Given the description of an element on the screen output the (x, y) to click on. 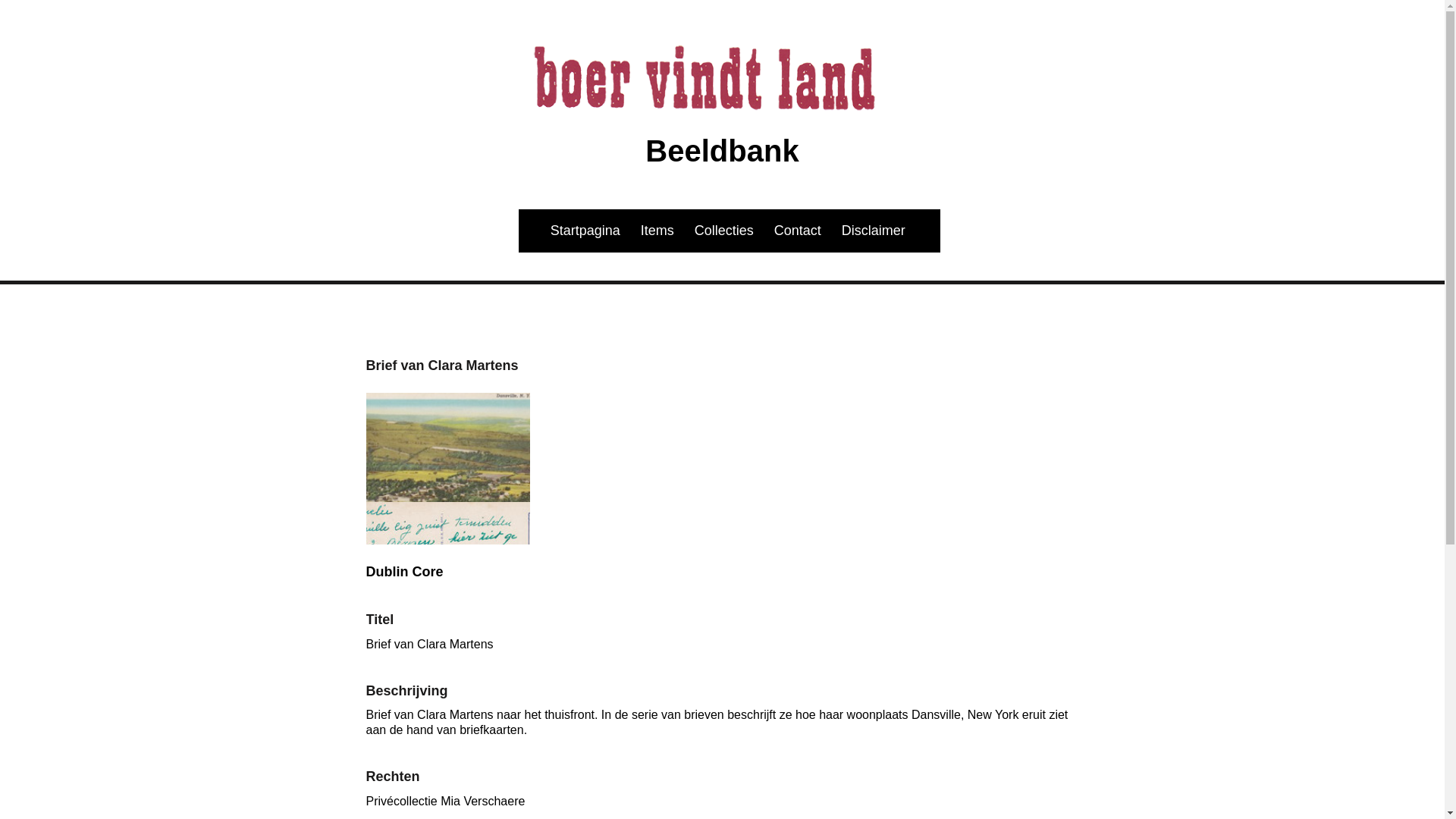
E_brieven_IMG_0017-imp.png Element type: hover (447, 474)
Items Element type: text (657, 230)
Contact Element type: text (797, 230)
E_brieven_IMG_0018.jpg Element type: hover (447, 583)
Startpagina Element type: text (573, 230)
Collecties Element type: text (724, 230)
Beeldbank Element type: text (721, 150)
Disclaimer Element type: text (884, 230)
